Given the description of an element on the screen output the (x, y) to click on. 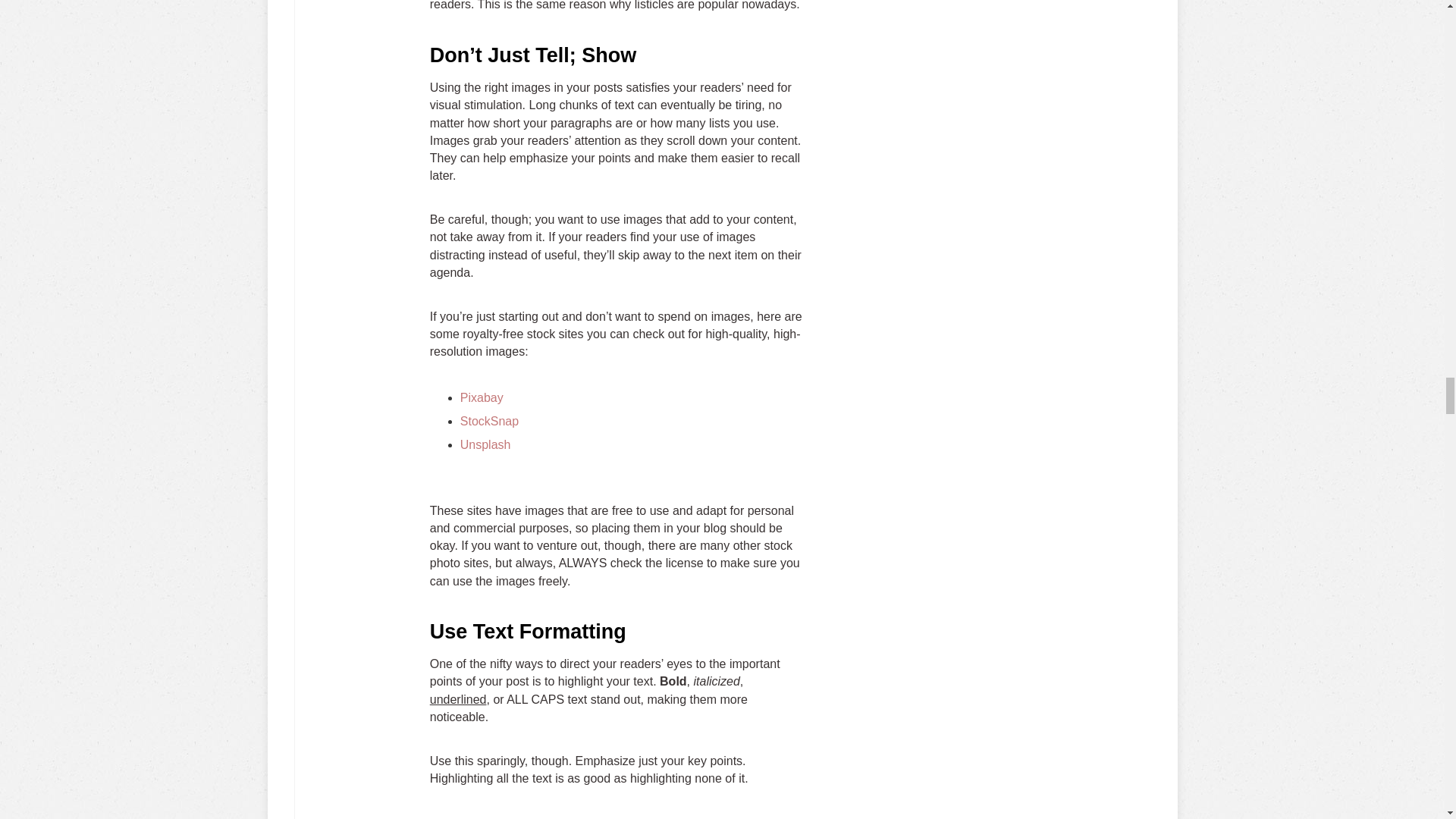
Pixabay (481, 397)
Unsplash (485, 444)
StockSnap (489, 420)
